Given the description of an element on the screen output the (x, y) to click on. 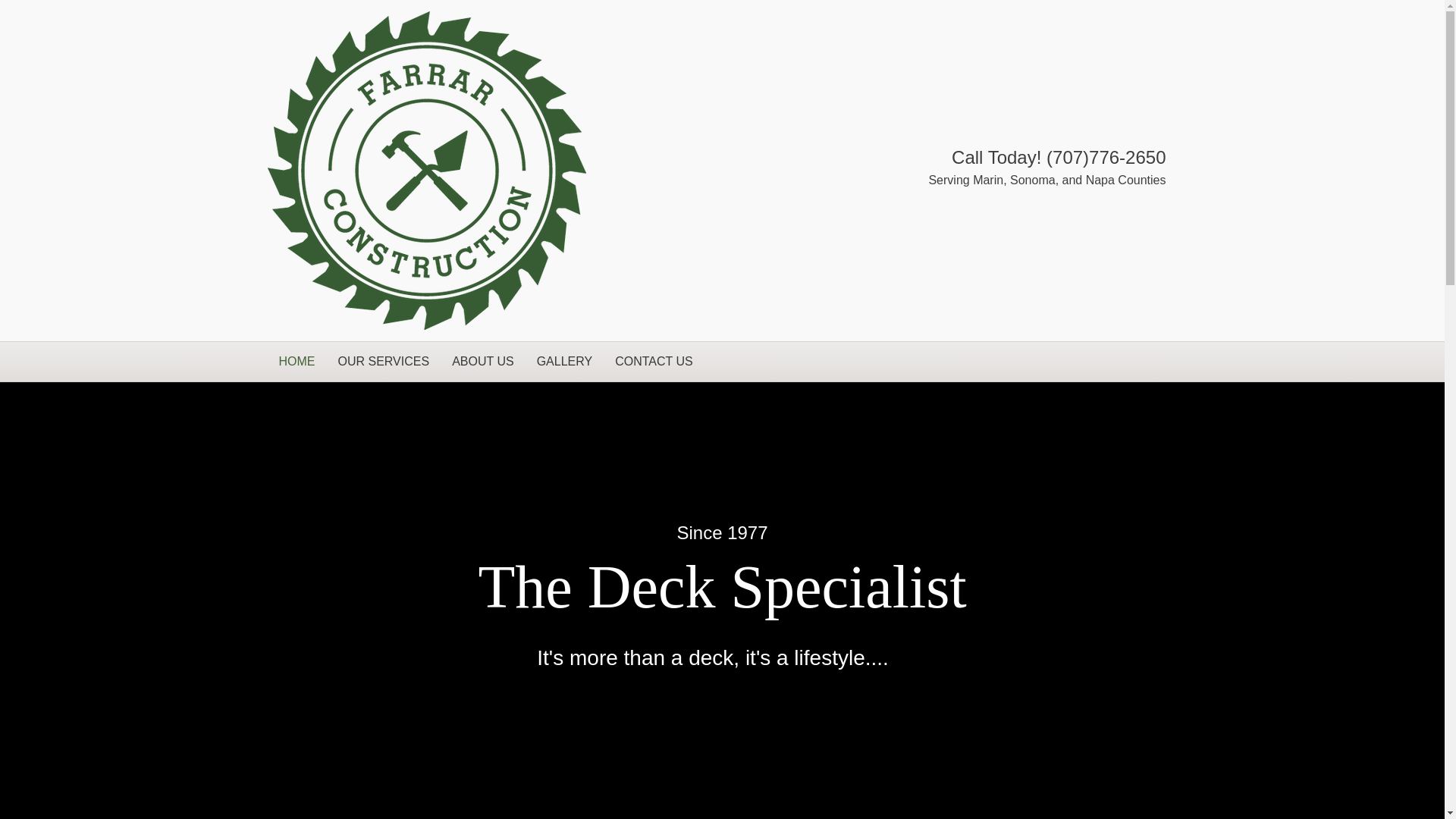
ABOUT US (483, 361)
OUR SERVICES (383, 361)
GALLERY (564, 361)
HOME (296, 361)
CONTACT US (654, 361)
